Given the description of an element on the screen output the (x, y) to click on. 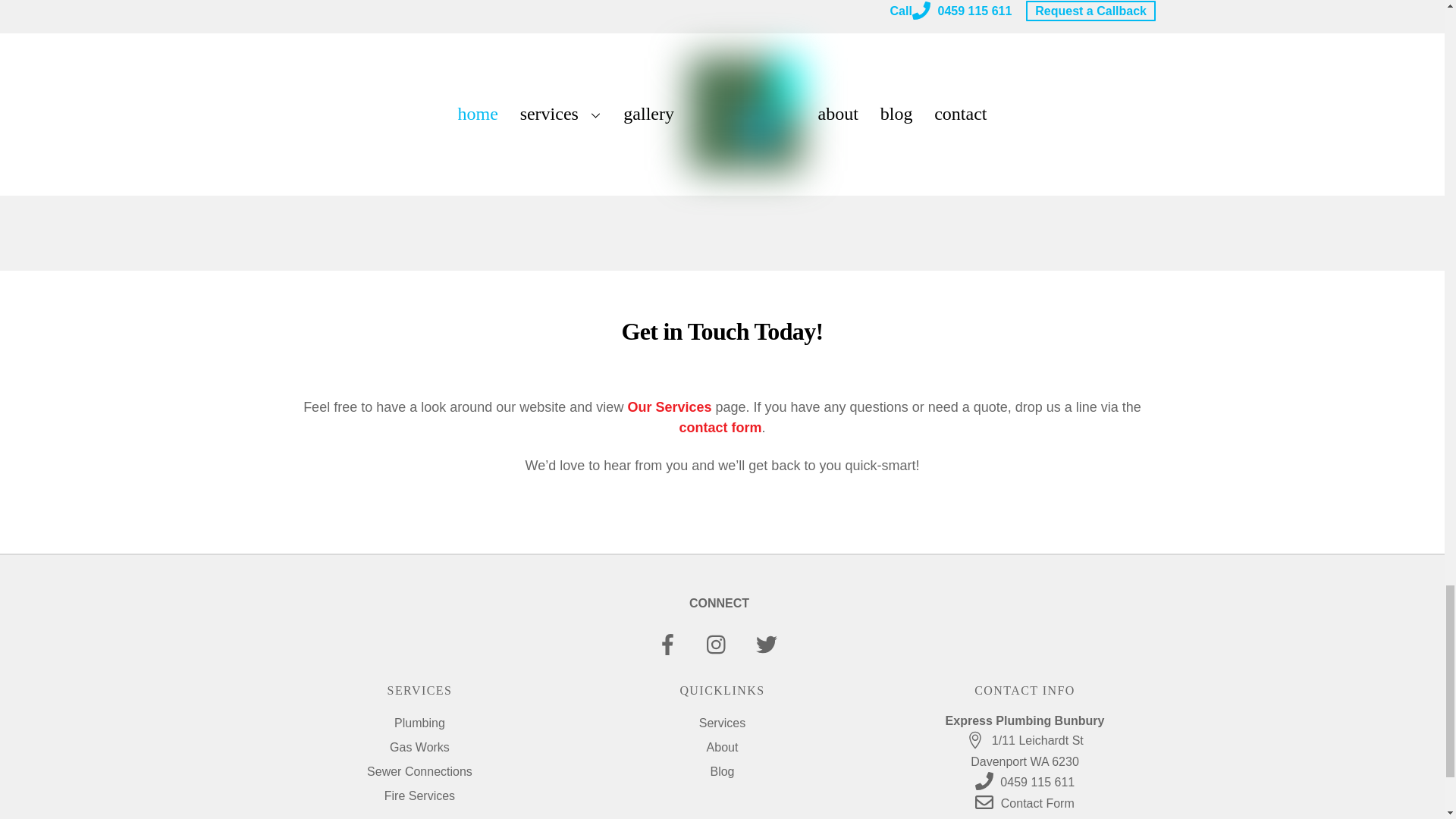
Plumbing (419, 722)
Sewer Connections (418, 771)
Fire Services (419, 795)
Gas Works (419, 747)
About (722, 747)
contact form (719, 427)
Our Services (669, 406)
Services (721, 722)
